Given the description of an element on the screen output the (x, y) to click on. 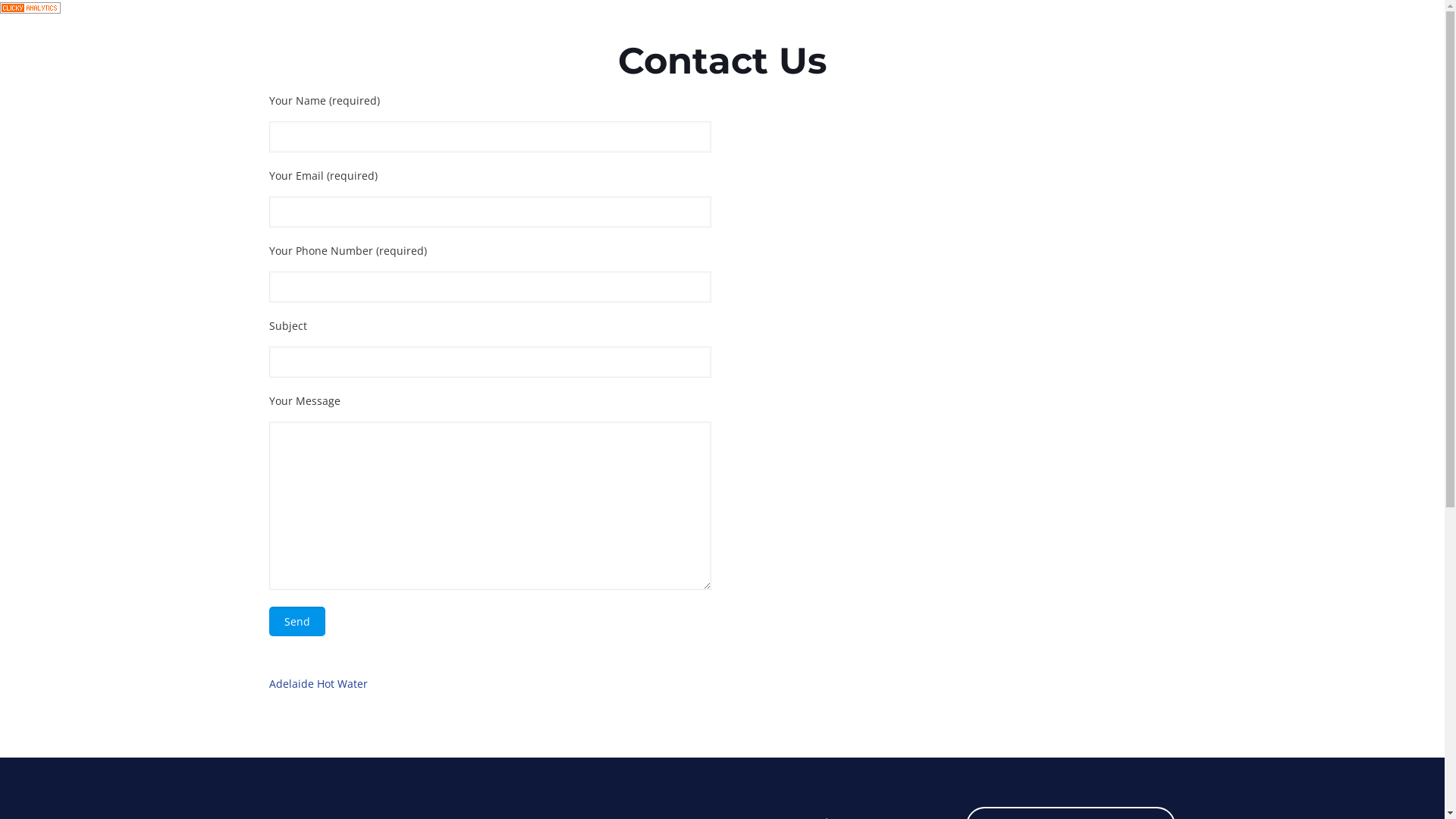
Google Analytics Alternative Element type: hover (30, 9)
Send Element type: text (297, 621)
Adelaide Hot Water Element type: text (318, 683)
